Given the description of an element on the screen output the (x, y) to click on. 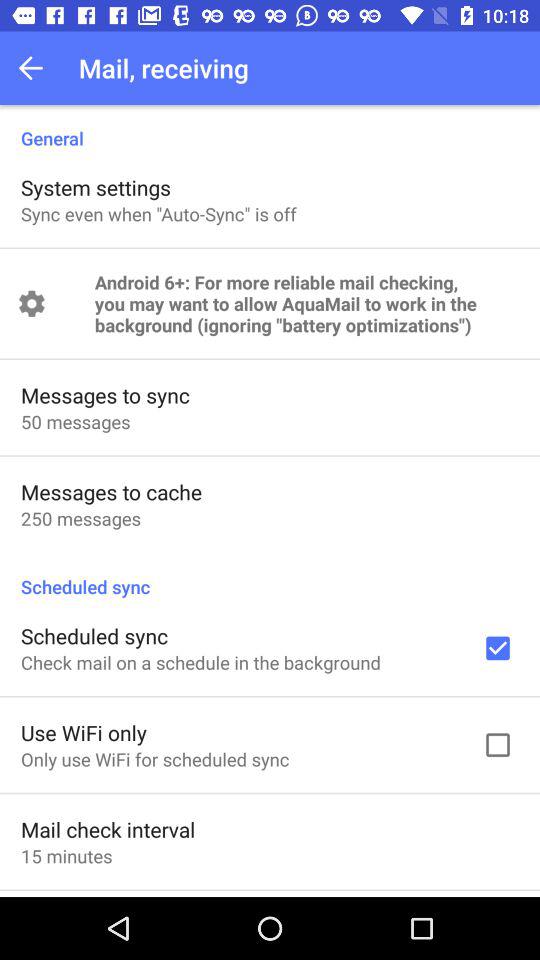
choose icon below the sync even when (306, 303)
